Given the description of an element on the screen output the (x, y) to click on. 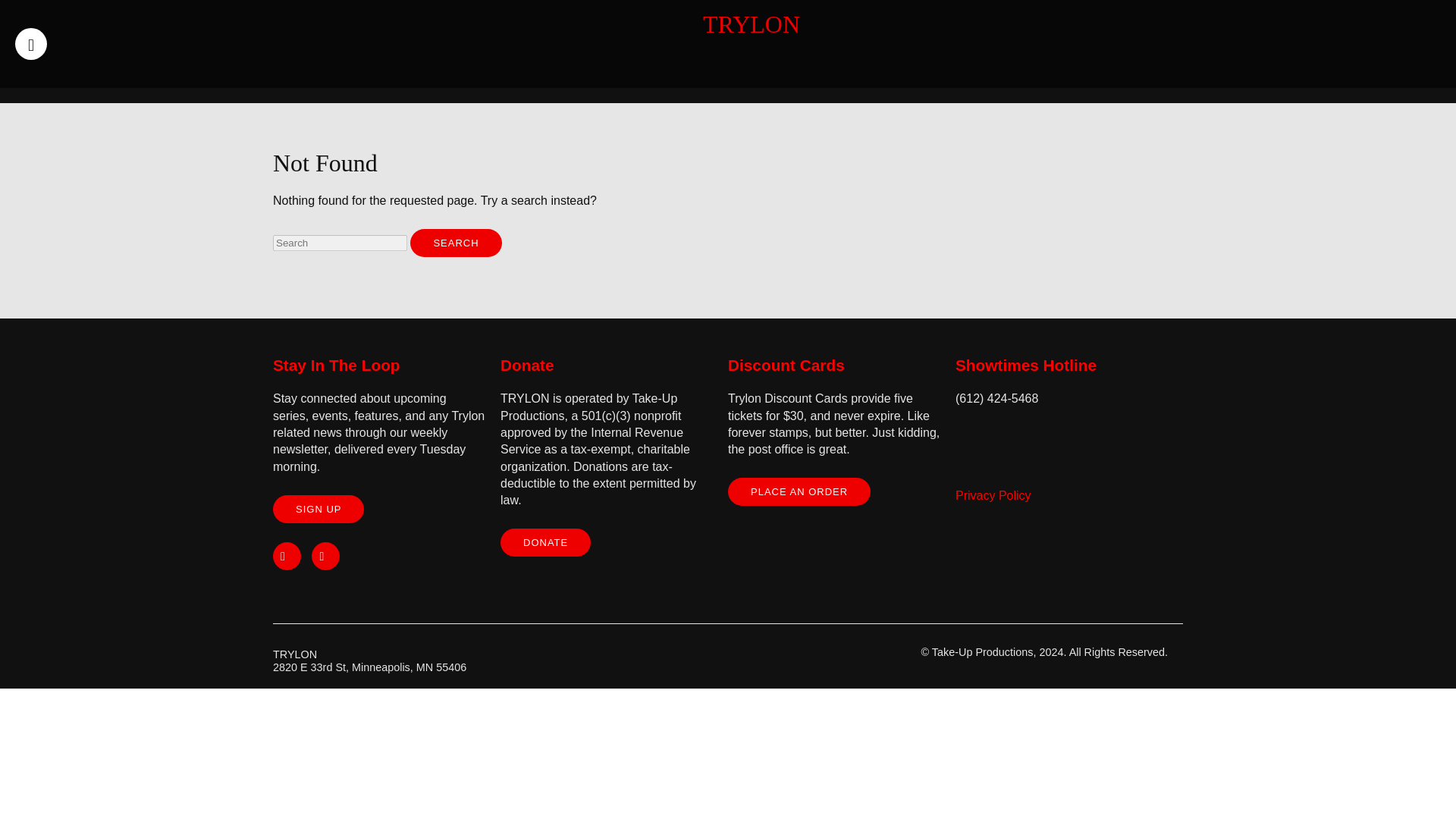
Toggle Desktop Menu (30, 43)
TRYLON (751, 23)
